Given the description of an element on the screen output the (x, y) to click on. 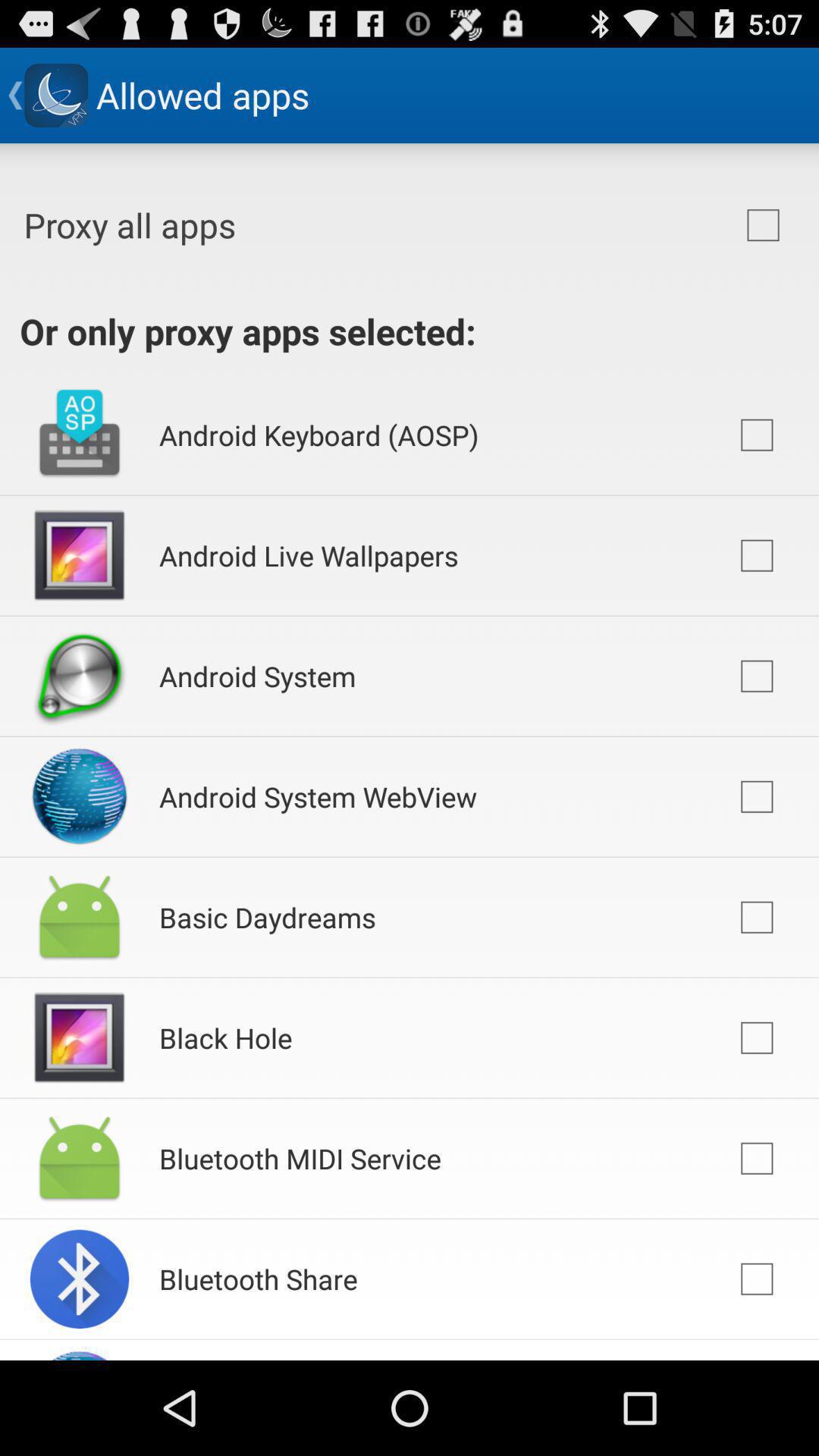
jump to the android live wallpapers icon (308, 555)
